Given the description of an element on the screen output the (x, y) to click on. 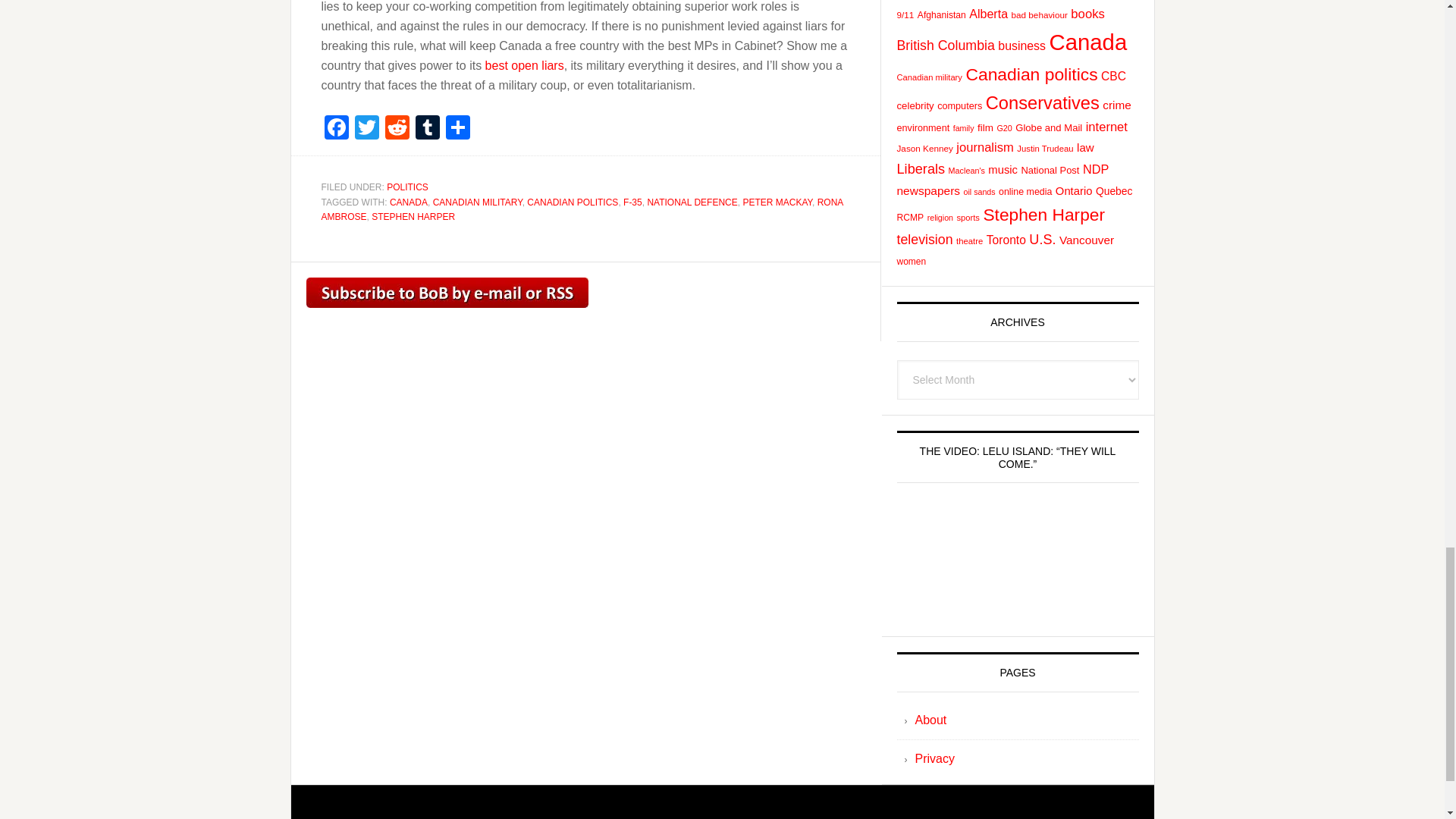
CANADIAN POLITICS (572, 202)
Reddit (396, 129)
STEPHEN HARPER (412, 216)
F-35 (632, 202)
best open liars (524, 65)
Facebook (336, 129)
Twitter (366, 129)
Tumblr (427, 129)
CANADIAN MILITARY (477, 202)
Tumblr (427, 129)
POLITICS (407, 186)
Facebook (336, 129)
Reddit (396, 129)
Share (457, 129)
PETER MACKAY (777, 202)
